Given the description of an element on the screen output the (x, y) to click on. 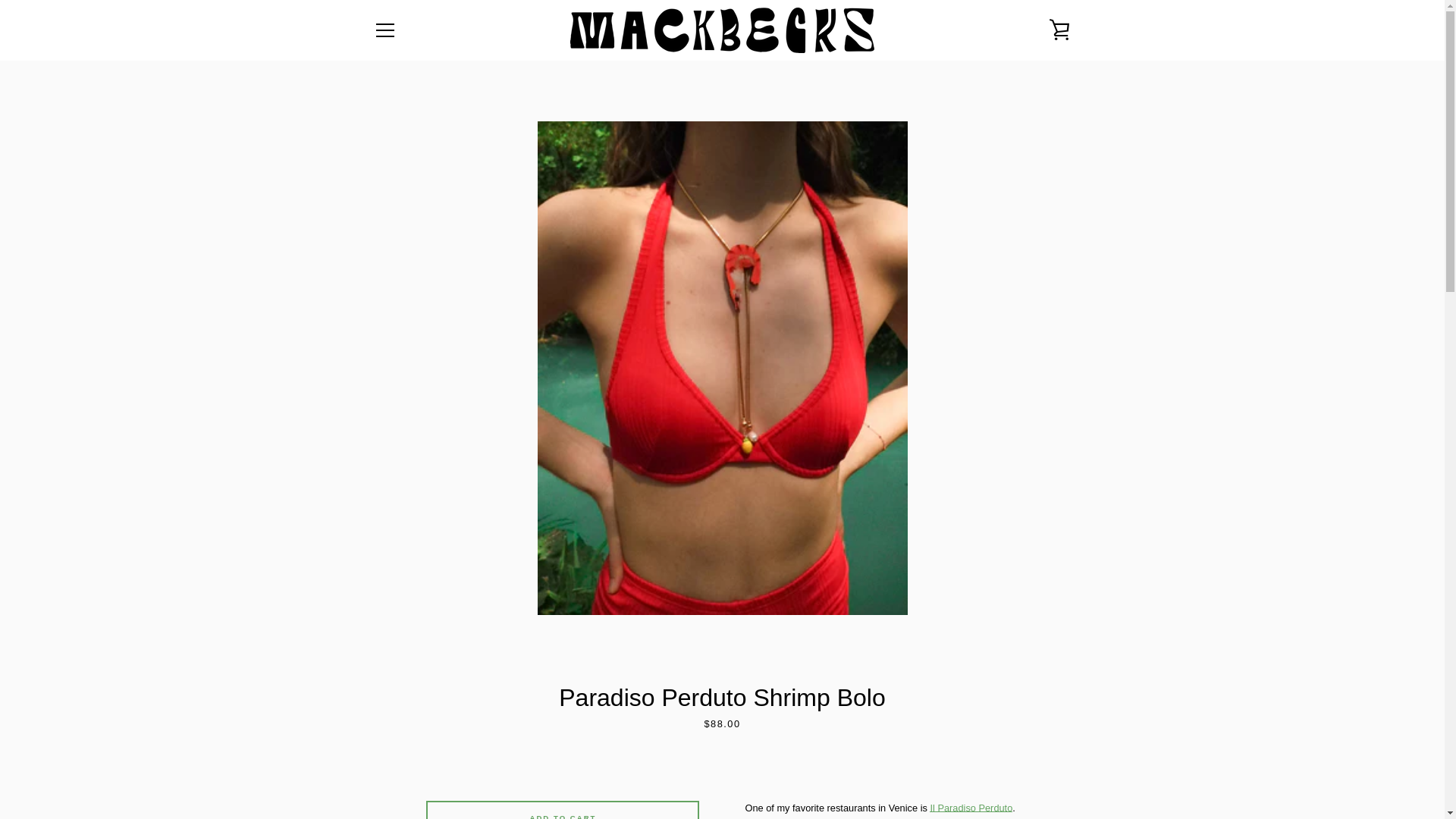
Il Paradiso Perduto (970, 808)
Il Paradiso Perduto (970, 808)
VIEW CART (1059, 30)
MENU (384, 30)
ADD TO CART (562, 809)
